Given the description of an element on the screen output the (x, y) to click on. 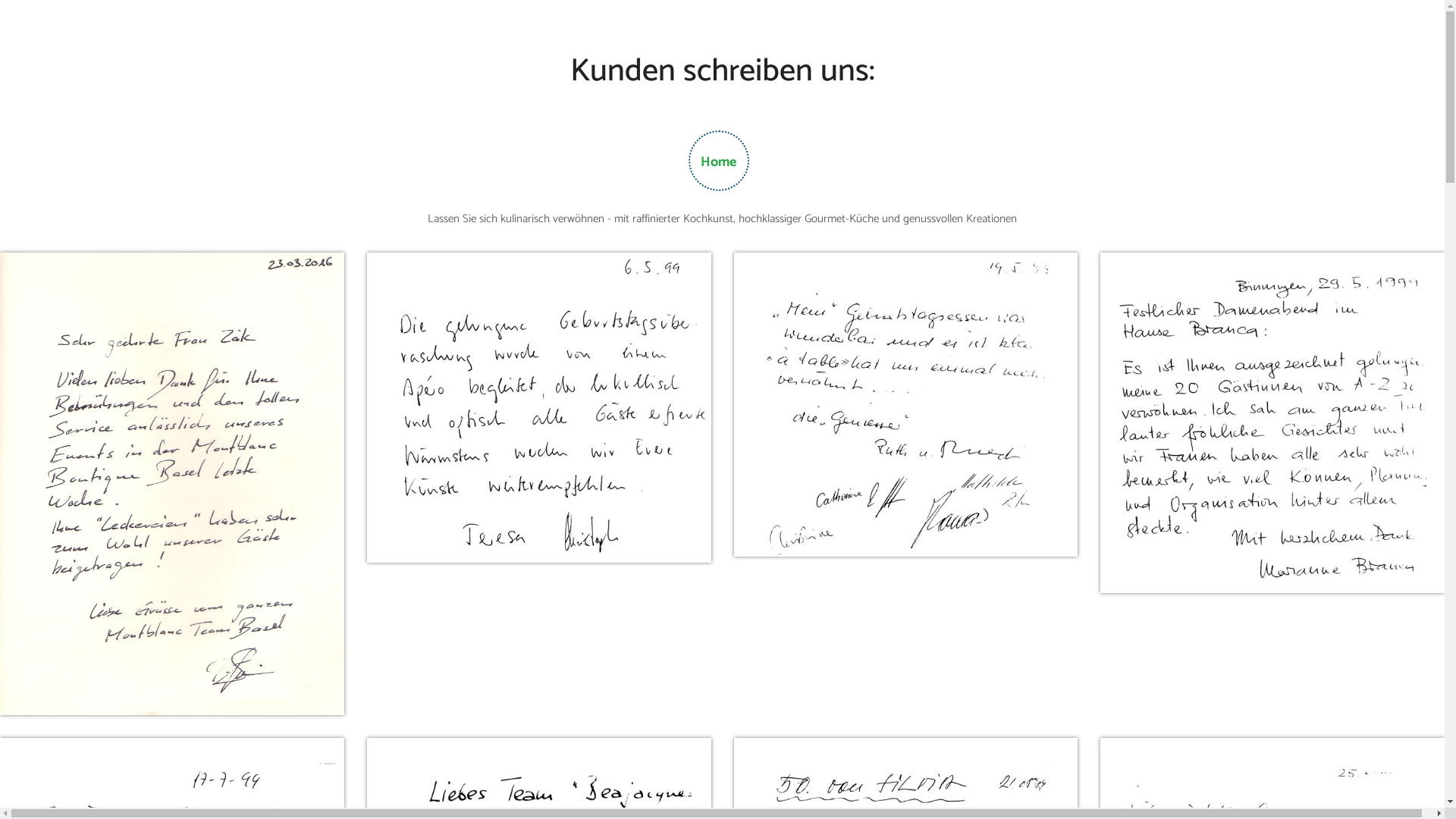
Home Element type: text (718, 161)
